Given the description of an element on the screen output the (x, y) to click on. 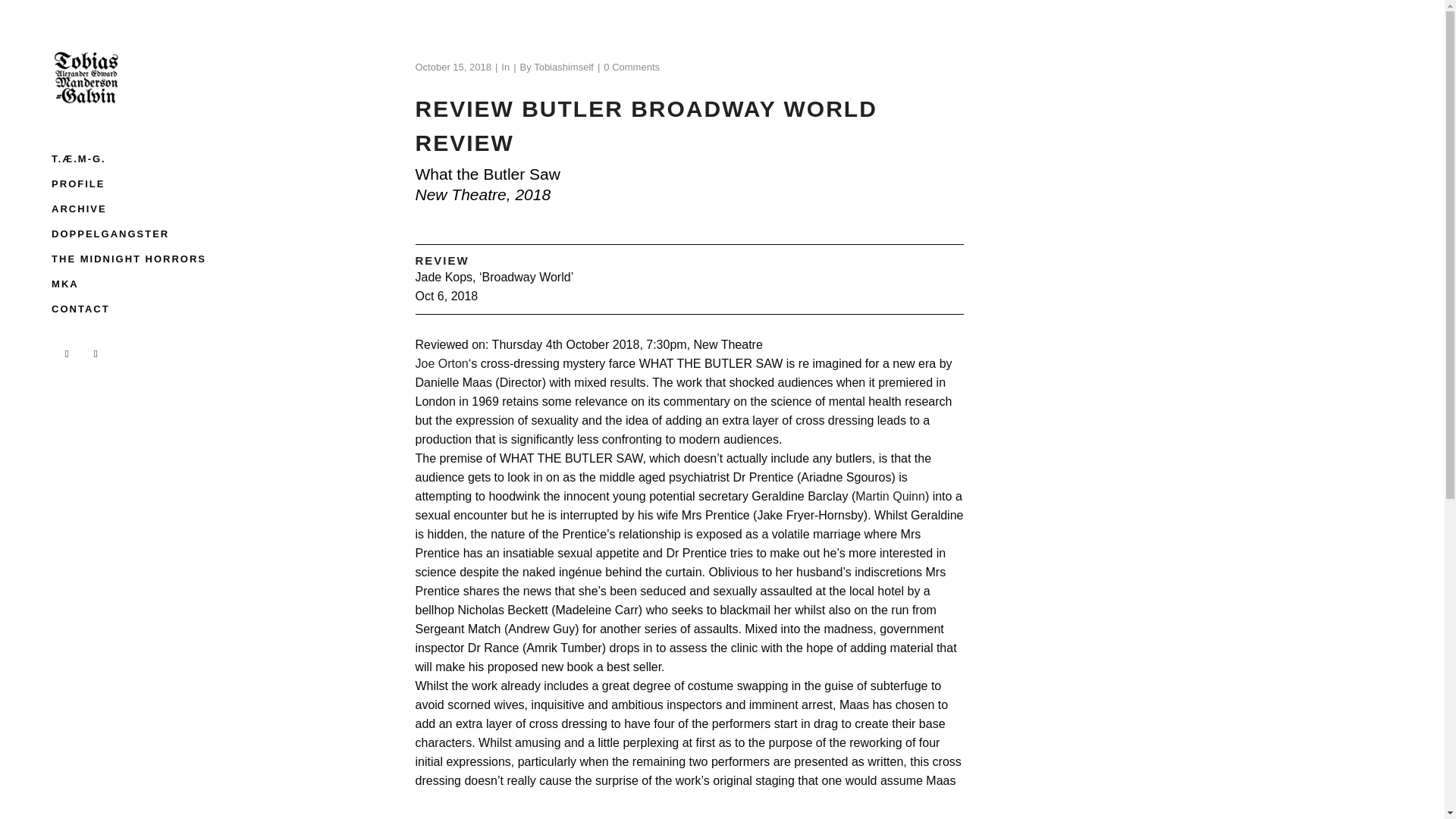
Tobiashimself (564, 66)
Joe Orton (441, 363)
DOPPELGANGSTER (138, 233)
THE MIDNIGHT HORRORS (138, 258)
ARCHIVE (138, 208)
MKA (138, 283)
Martin Quinn (890, 495)
PROFILE (138, 183)
CONTACT (138, 308)
0 Comments (631, 66)
